Given the description of an element on the screen output the (x, y) to click on. 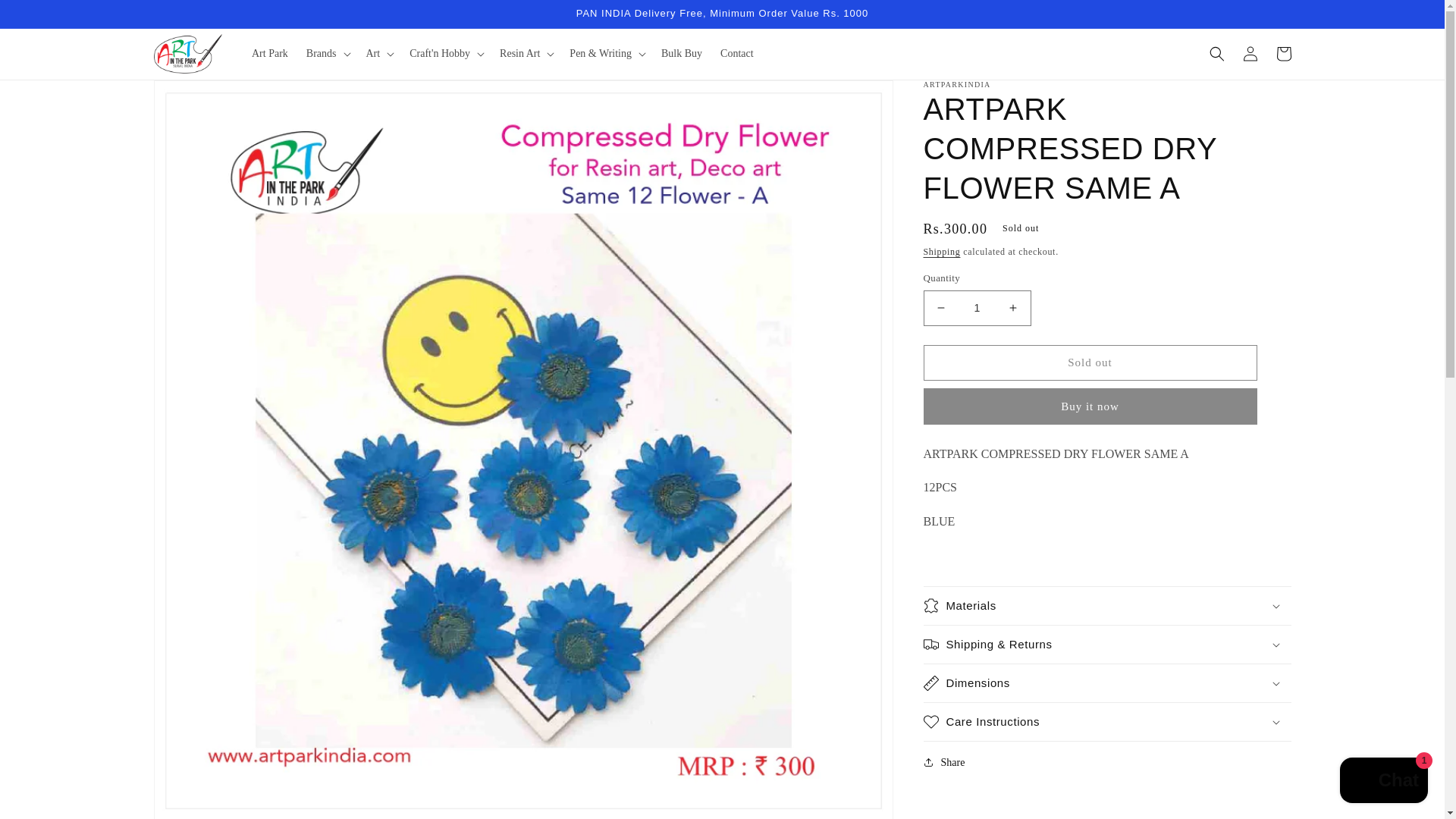
Skip to content (45, 17)
Shopify online store chat (1383, 781)
1 (976, 307)
